Given the description of an element on the screen output the (x, y) to click on. 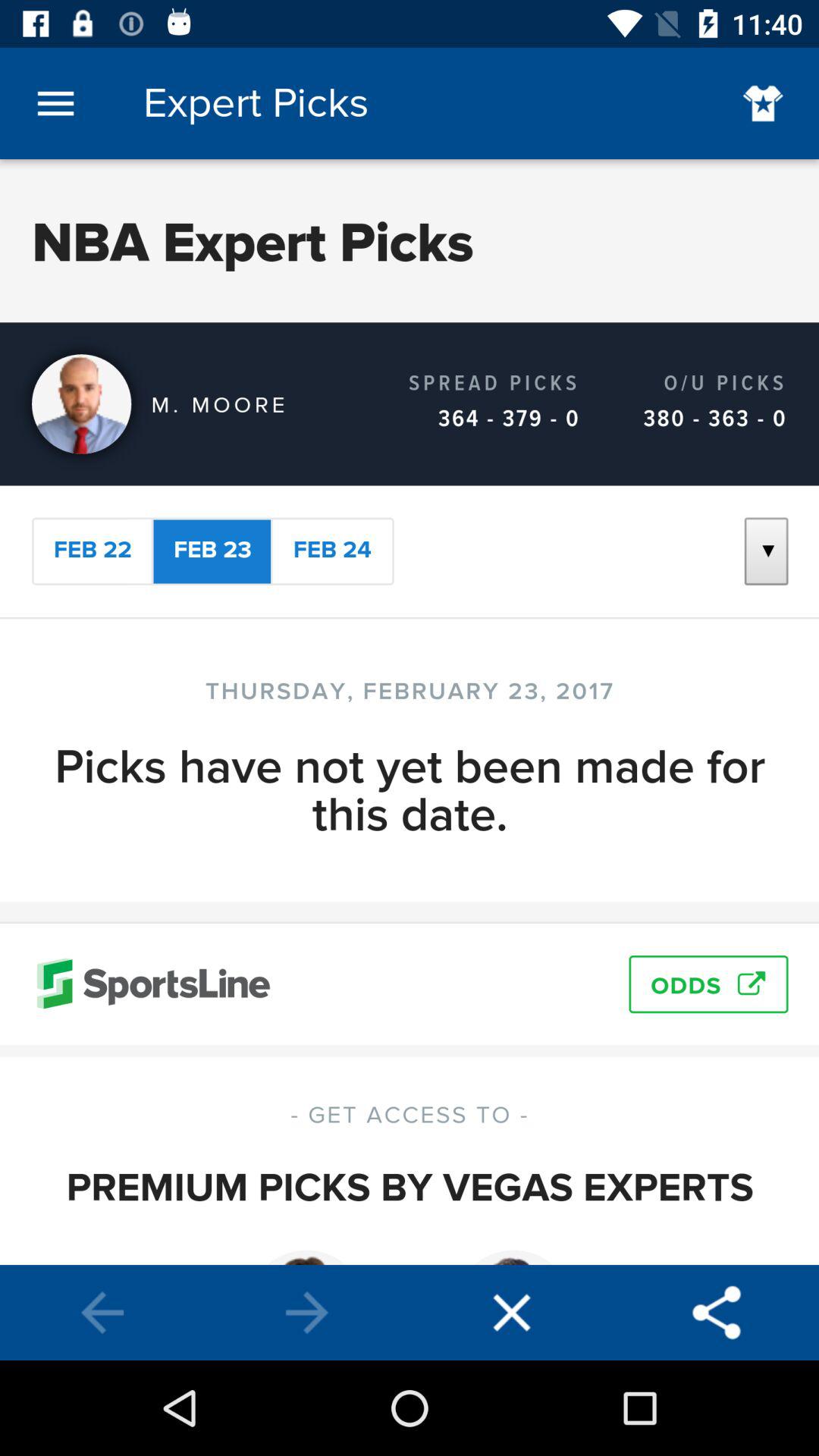
back option (102, 1312)
